Given the description of an element on the screen output the (x, y) to click on. 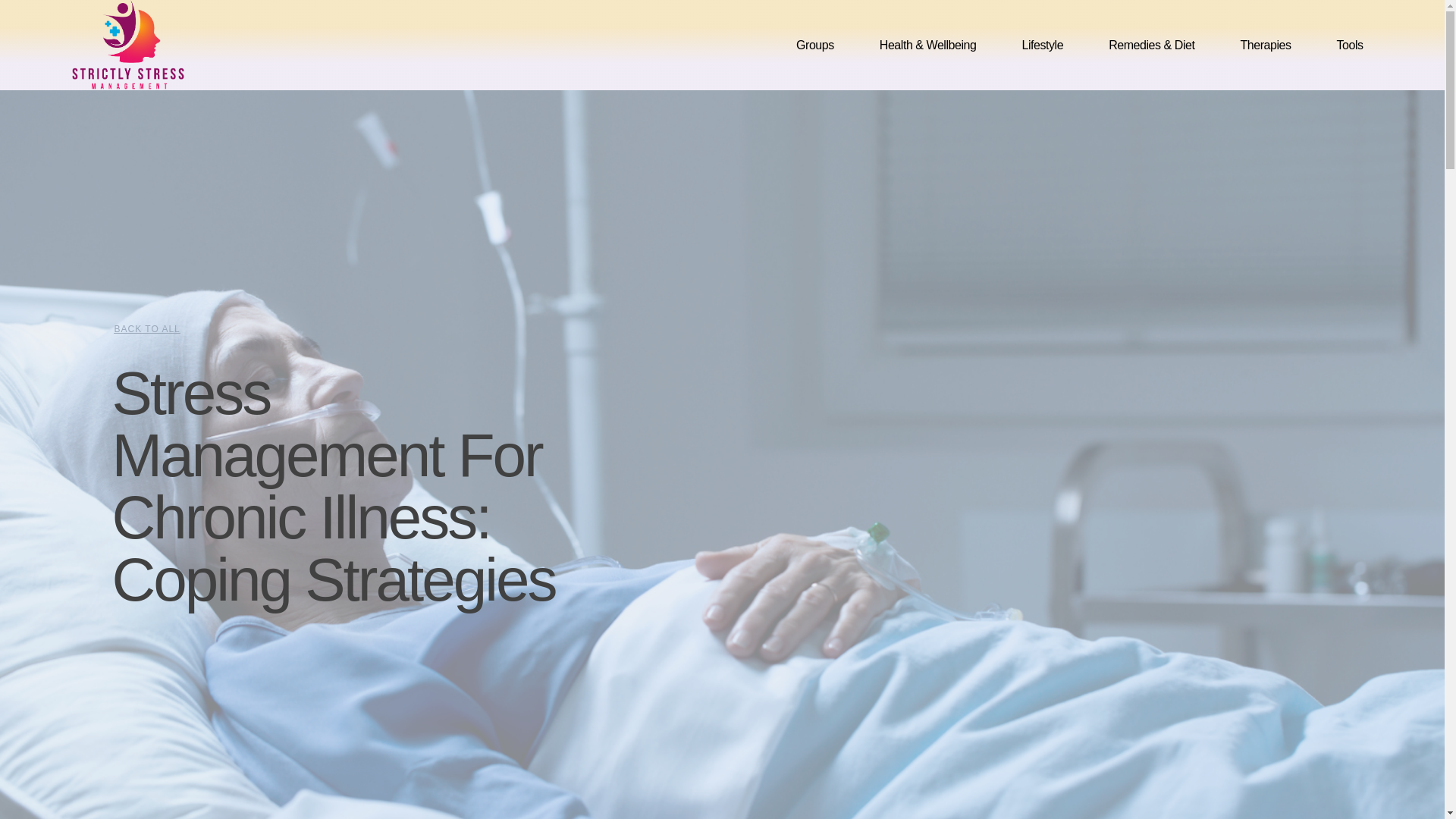
Tools (1350, 45)
Therapies (1264, 45)
BACK TO ALL (146, 328)
Groups (815, 45)
Lifestyle (1041, 45)
